Given the description of an element on the screen output the (x, y) to click on. 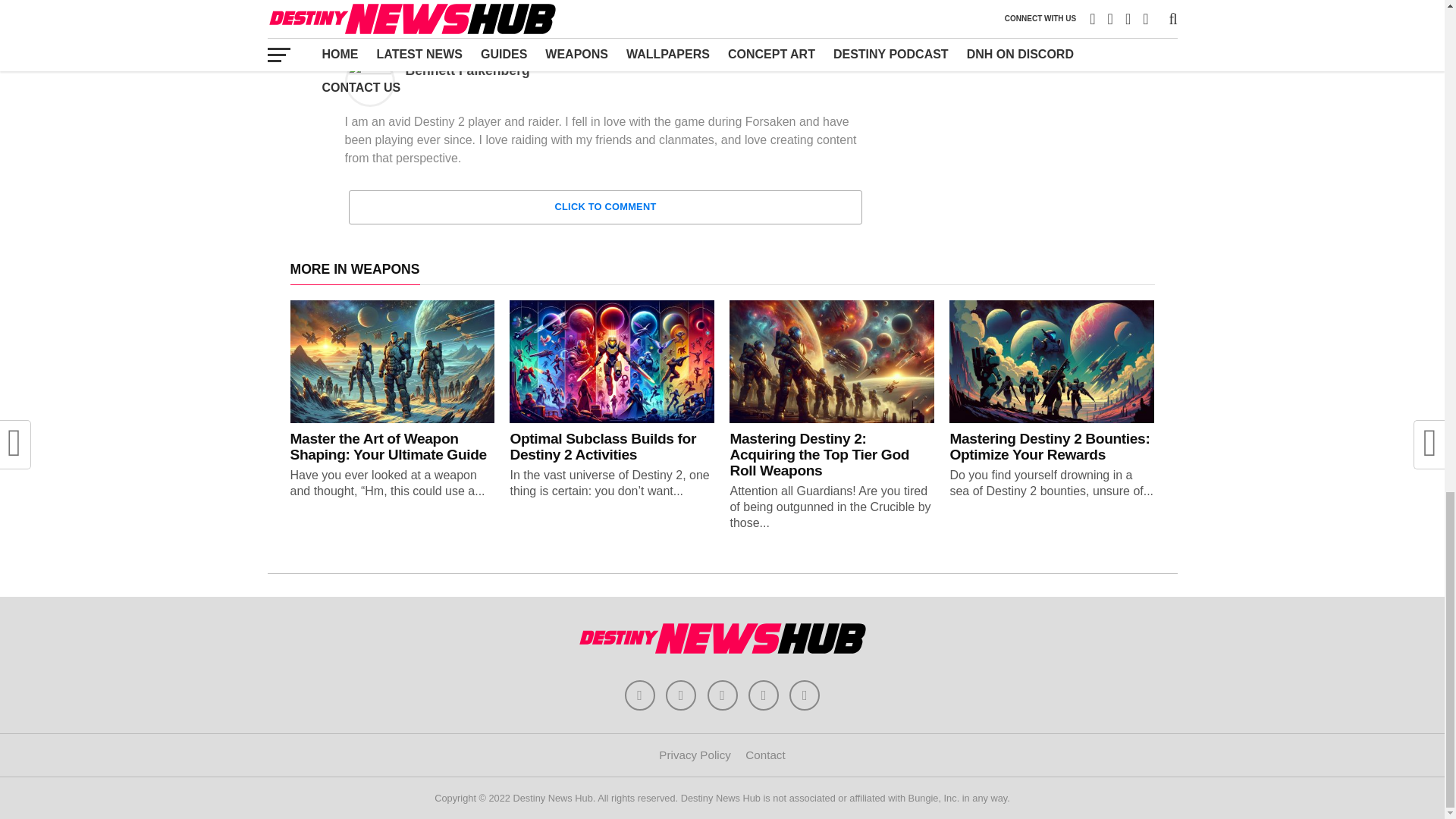
Bennett Falkenberg (466, 70)
Posts by Bennett Falkenberg (466, 70)
DEAFENING WHISPER (507, 22)
